Given the description of an element on the screen output the (x, y) to click on. 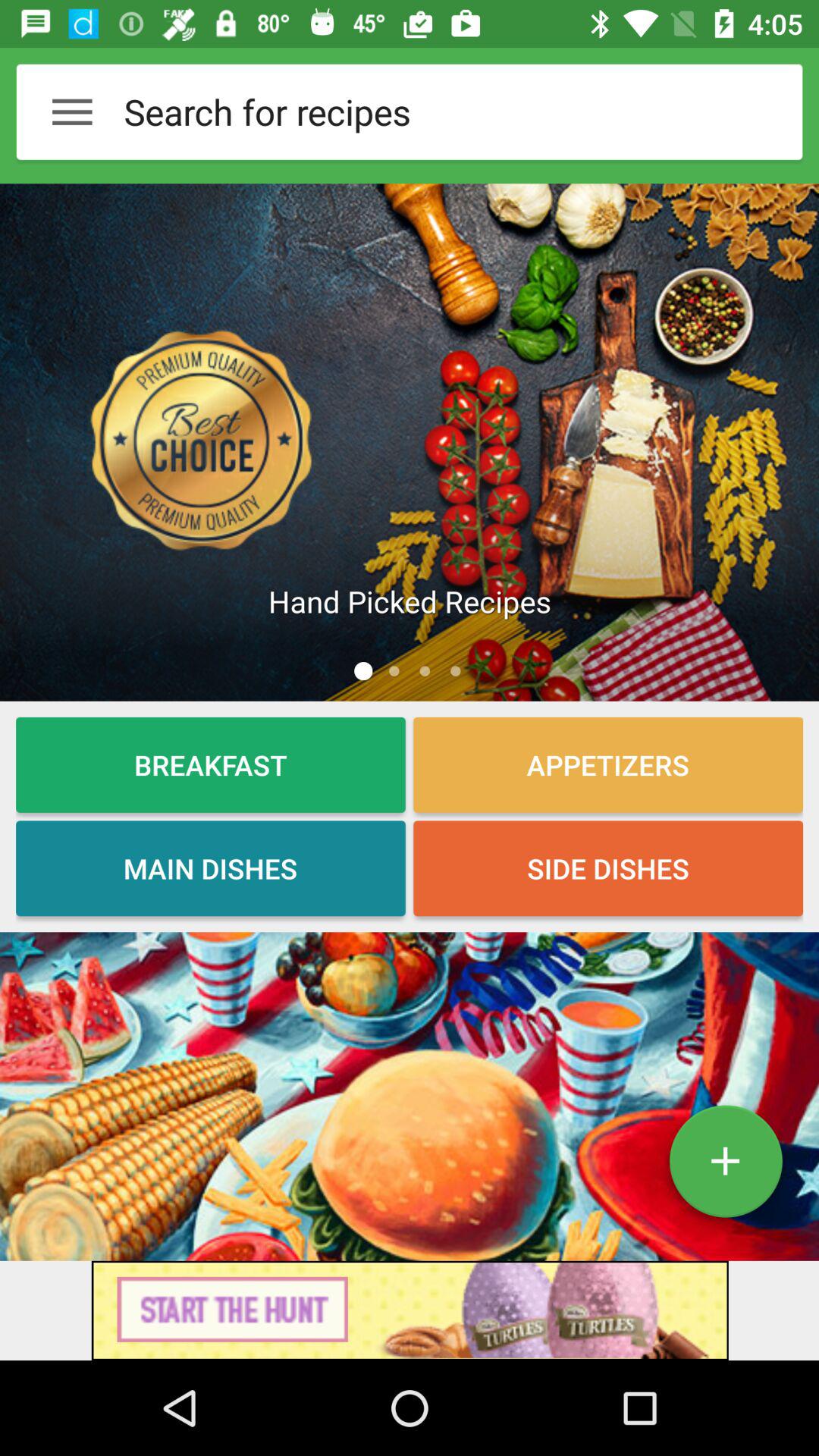
visit advertisement (409, 1310)
